Given the description of an element on the screen output the (x, y) to click on. 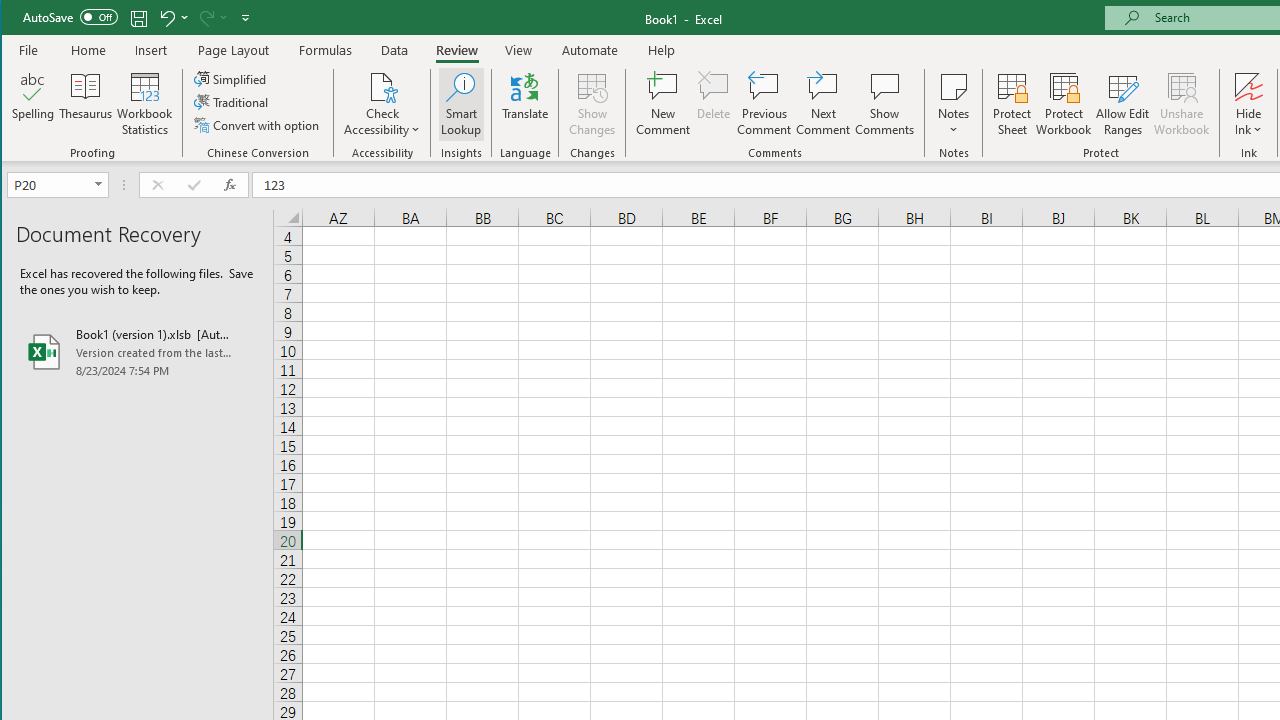
Delete (713, 104)
Convert with option (258, 124)
Translate (525, 104)
Unshare Workbook (1182, 104)
Show Comments (884, 104)
